Given the description of an element on the screen output the (x, y) to click on. 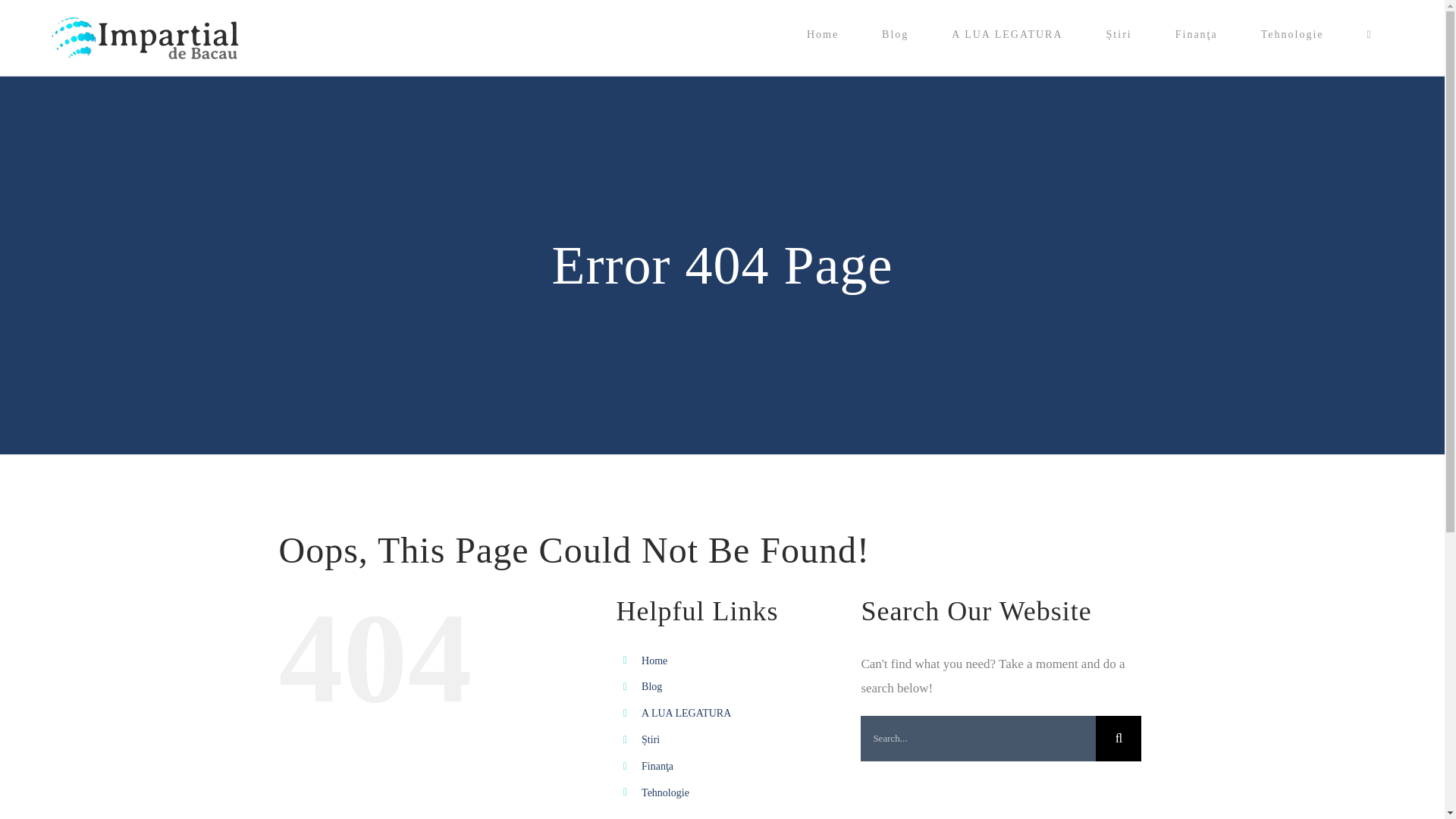
Home (654, 660)
A LUA LEGATURA (686, 713)
Blog (652, 686)
Blog (895, 34)
Tehnologie (1292, 34)
Tehnologie (665, 792)
Home (822, 34)
A LUA LEGATURA (1007, 34)
